Given the description of an element on the screen output the (x, y) to click on. 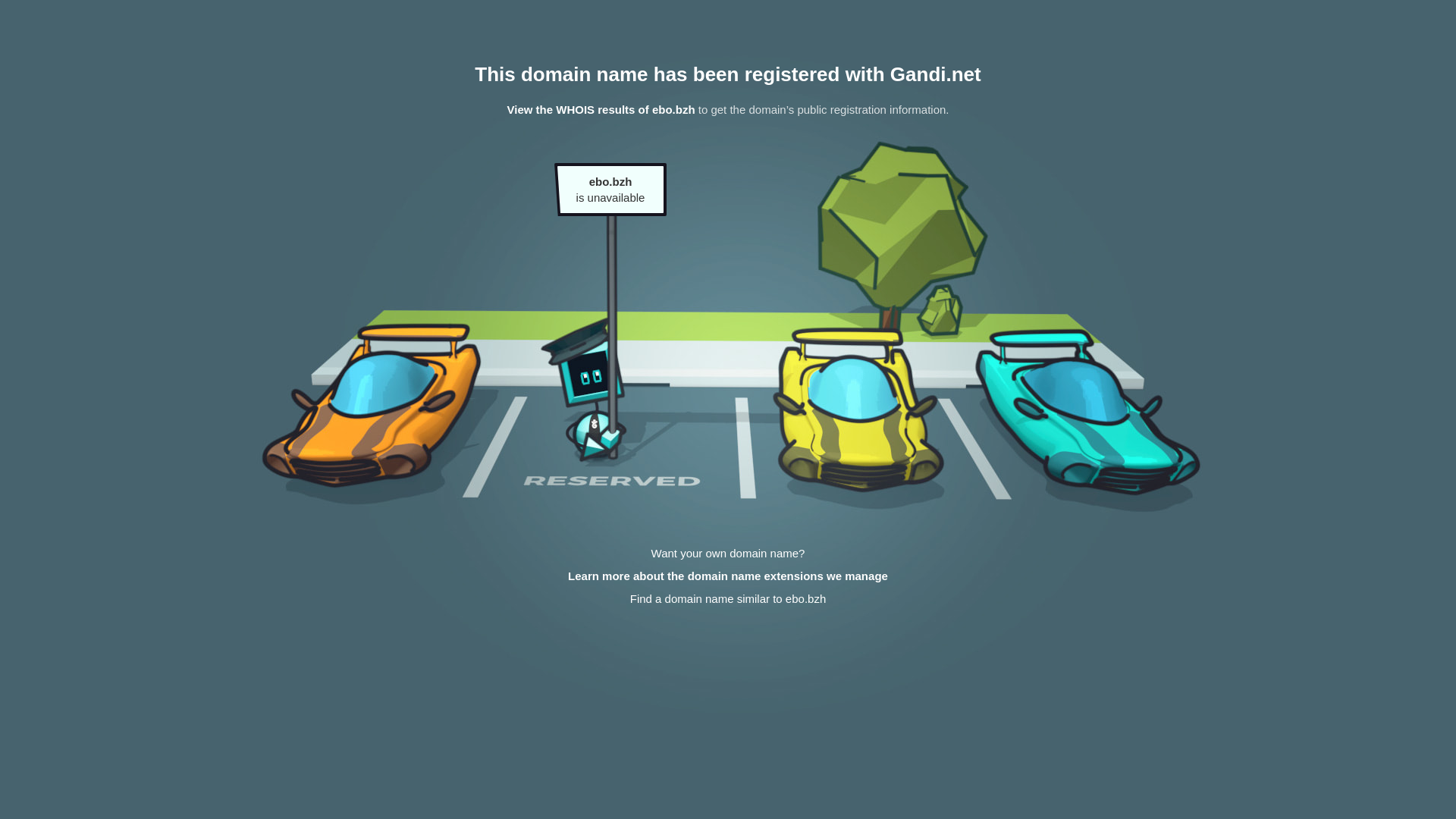
Learn more about the domain name extensions we manage Element type: text (727, 575)
Find a domain name similar to ebo.bzh Element type: text (727, 598)
View the WHOIS results of ebo.bzh Element type: text (600, 109)
